Given the description of an element on the screen output the (x, y) to click on. 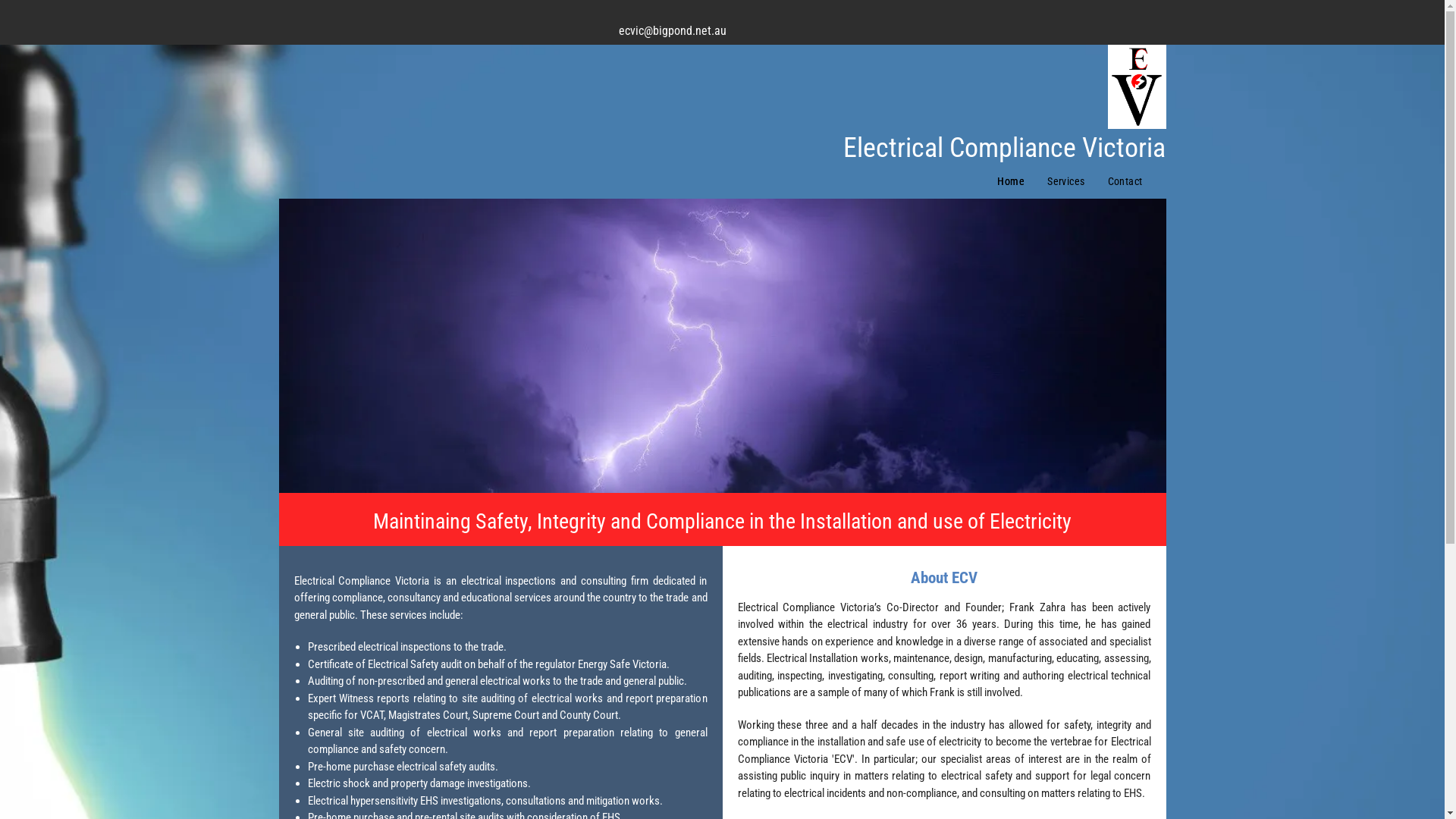
Home Element type: text (1010, 181)
Contact Element type: text (1125, 181)
ecvic@bigpond.net.au Element type: text (672, 29)
electrical compliance victoria leading electrical compliance Element type: hover (722, 345)
Services Element type: text (1065, 181)
